Given the description of an element on the screen output the (x, y) to click on. 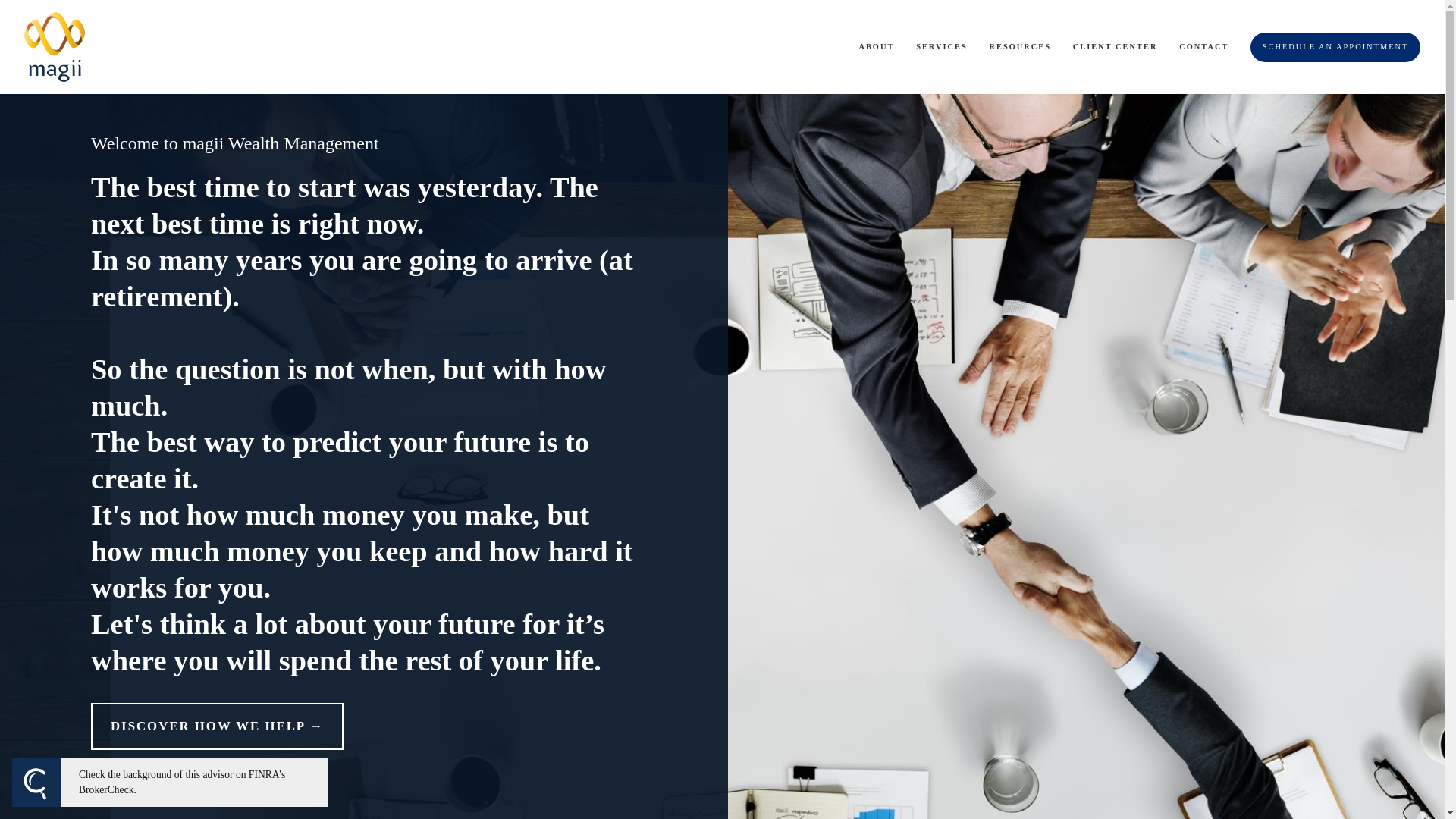
CLIENT CENTER (1115, 47)
CONTACT (1203, 47)
RESOURCES (1020, 47)
SERVICES (941, 47)
SCHEDULE AN APPOINTMENT (1335, 47)
ABOUT (876, 47)
